Given the description of an element on the screen output the (x, y) to click on. 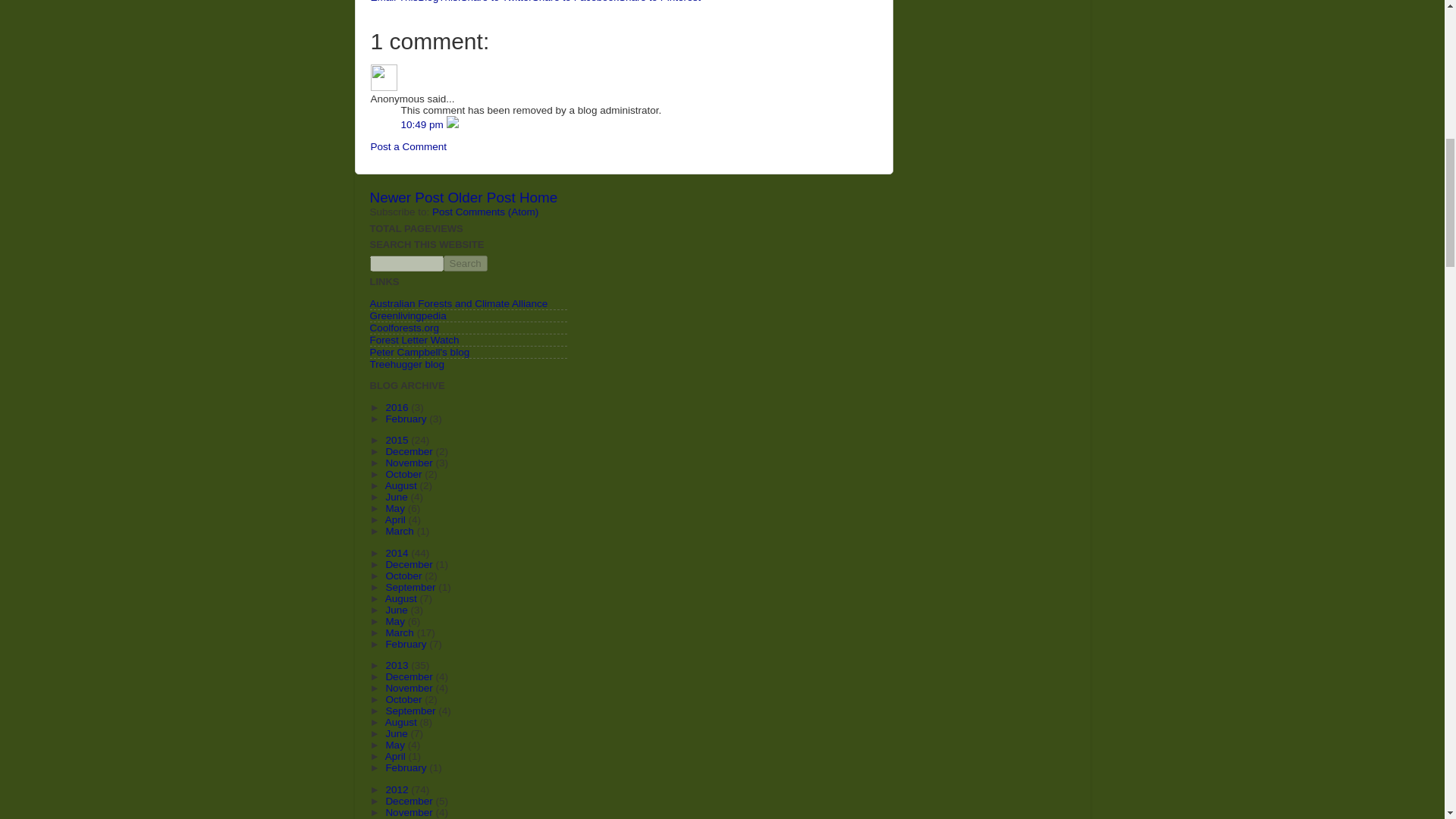
10:49 pm (422, 124)
2015 (397, 439)
2016 (397, 407)
Coolforests.org (404, 327)
comment permalink (422, 124)
Newer Post (406, 197)
Share to Twitter (496, 1)
Older Post (480, 197)
Newer Post (406, 197)
BlogThis! (438, 1)
Share to Facebook (575, 1)
Anonymous (382, 77)
Share to Twitter (496, 1)
Search (464, 263)
Australian Forests and Climate Alliance (458, 303)
